Given the description of an element on the screen output the (x, y) to click on. 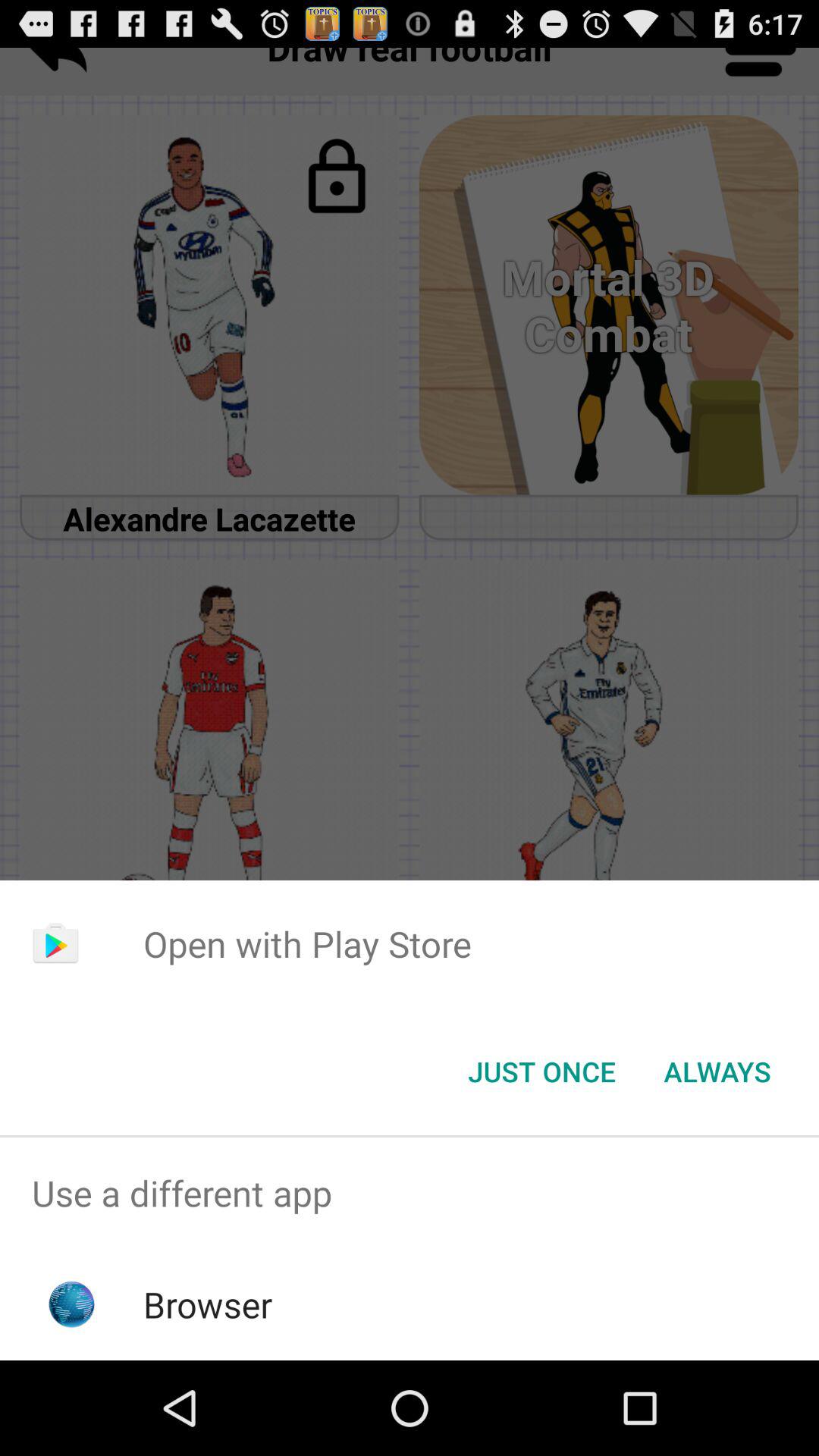
scroll to the use a different icon (409, 1192)
